Given the description of an element on the screen output the (x, y) to click on. 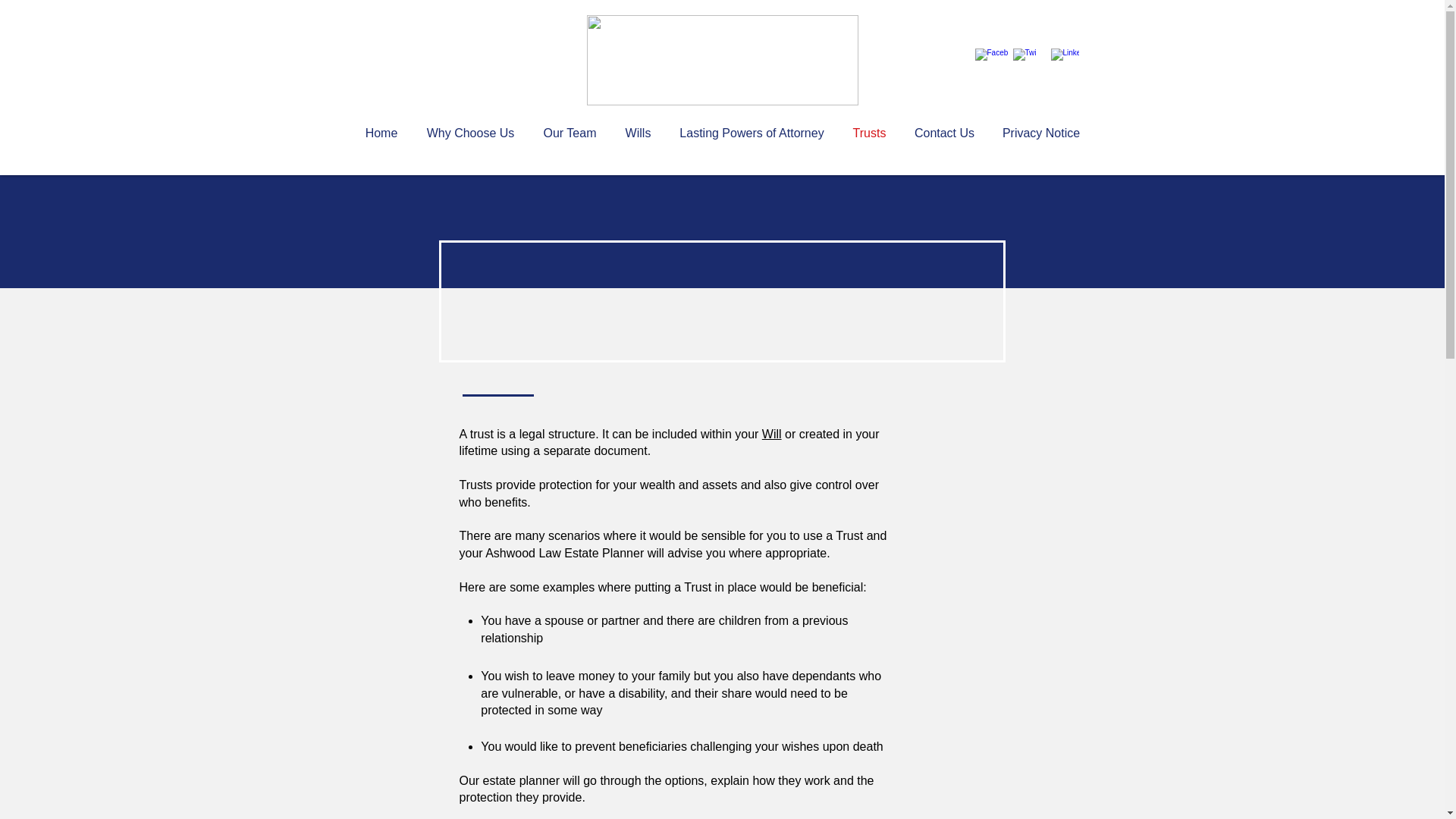
Wills (638, 133)
Our Team (570, 133)
Lasting Powers of Attorney (751, 133)
Home (381, 133)
Contact Us (944, 133)
Will (771, 433)
Why Choose Us (470, 133)
Privacy Notice (1041, 133)
Trusts (869, 133)
